Given the description of an element on the screen output the (x, y) to click on. 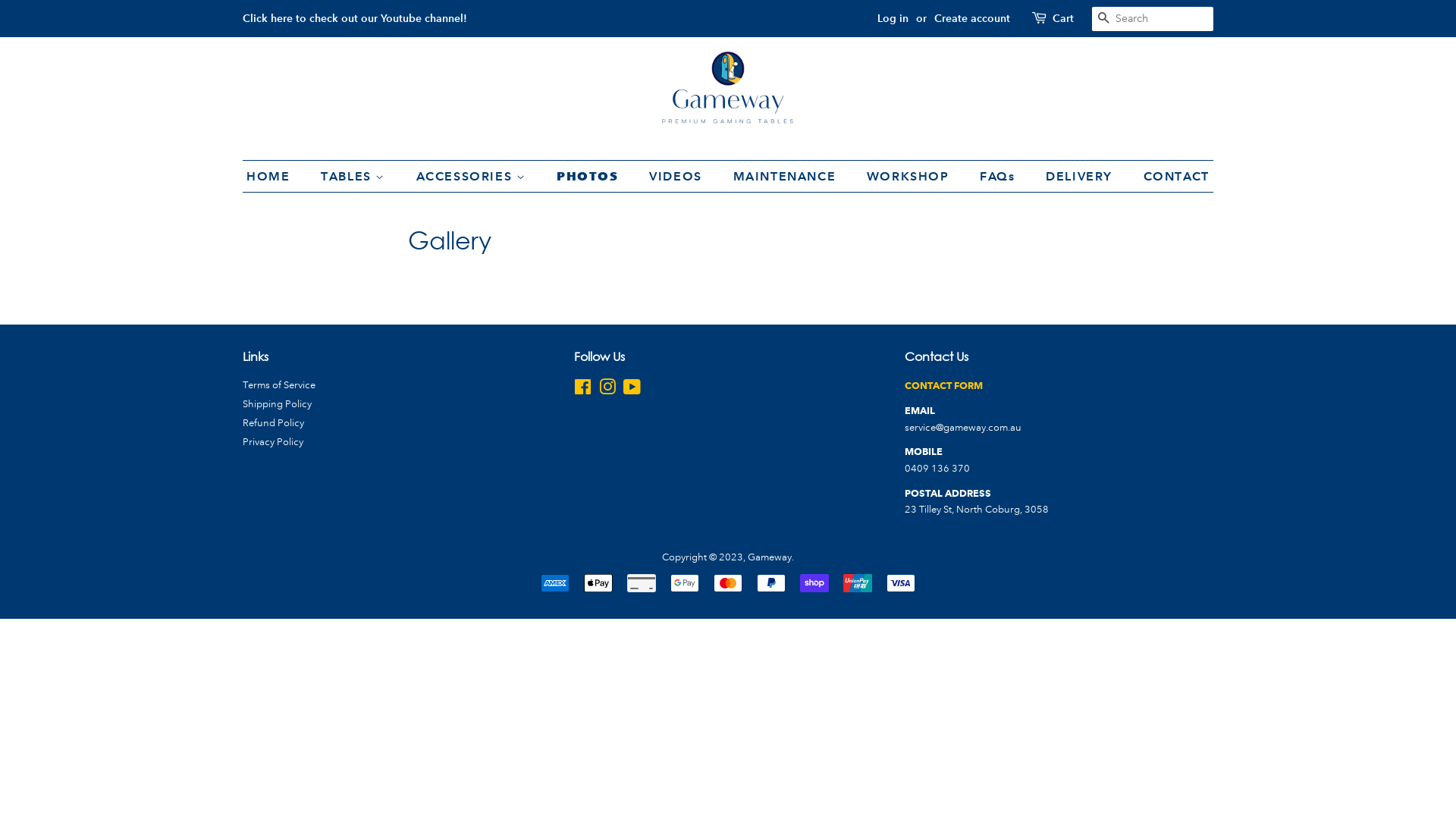
VIDEOS Element type: text (677, 175)
Facebook Element type: text (582, 390)
Instagram Element type: text (607, 390)
CONTACT Element type: text (1170, 175)
DELIVERY Element type: text (1080, 175)
Terms of Service Element type: text (278, 385)
Log in Element type: text (892, 18)
HOME Element type: text (275, 175)
CONTACT FORM Element type: text (943, 385)
Search Element type: text (1104, 18)
YouTube Element type: text (631, 390)
MAINTENANCE Element type: text (786, 175)
PHOTOS Element type: text (589, 175)
Refund Policy Element type: text (273, 423)
Gameway Element type: text (769, 557)
Cart Element type: text (1062, 18)
Create account Element type: text (972, 18)
FAQs Element type: text (998, 175)
ACCESSORIES Element type: text (472, 175)
Click here to check out our Youtube channel! Element type: text (354, 18)
TABLES Element type: text (354, 175)
Shipping Policy Element type: text (276, 404)
Privacy Policy Element type: text (272, 442)
WORKSHOP Element type: text (909, 175)
